Given the description of an element on the screen output the (x, y) to click on. 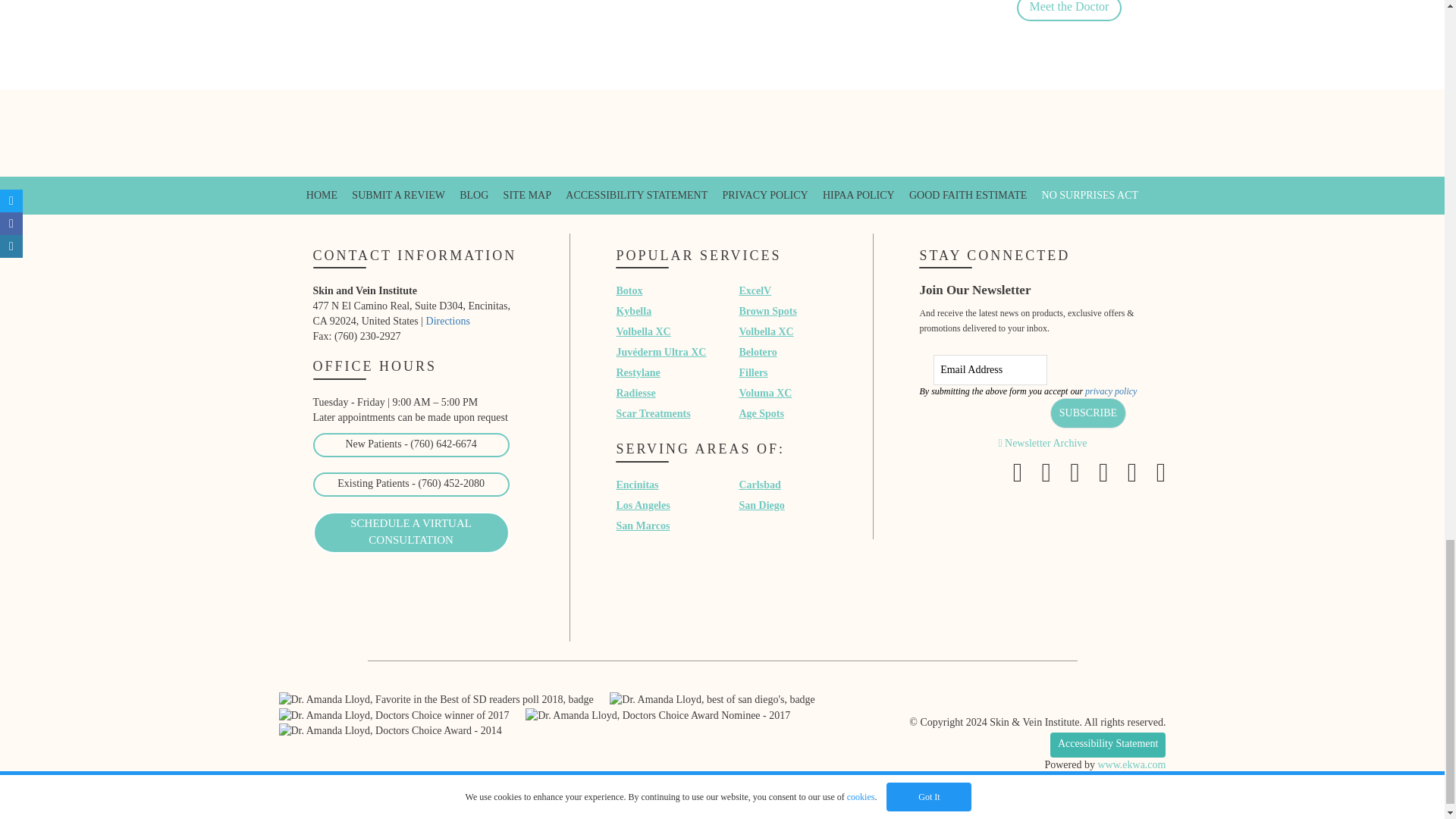
Subscribe (1087, 413)
